Given the description of an element on the screen output the (x, y) to click on. 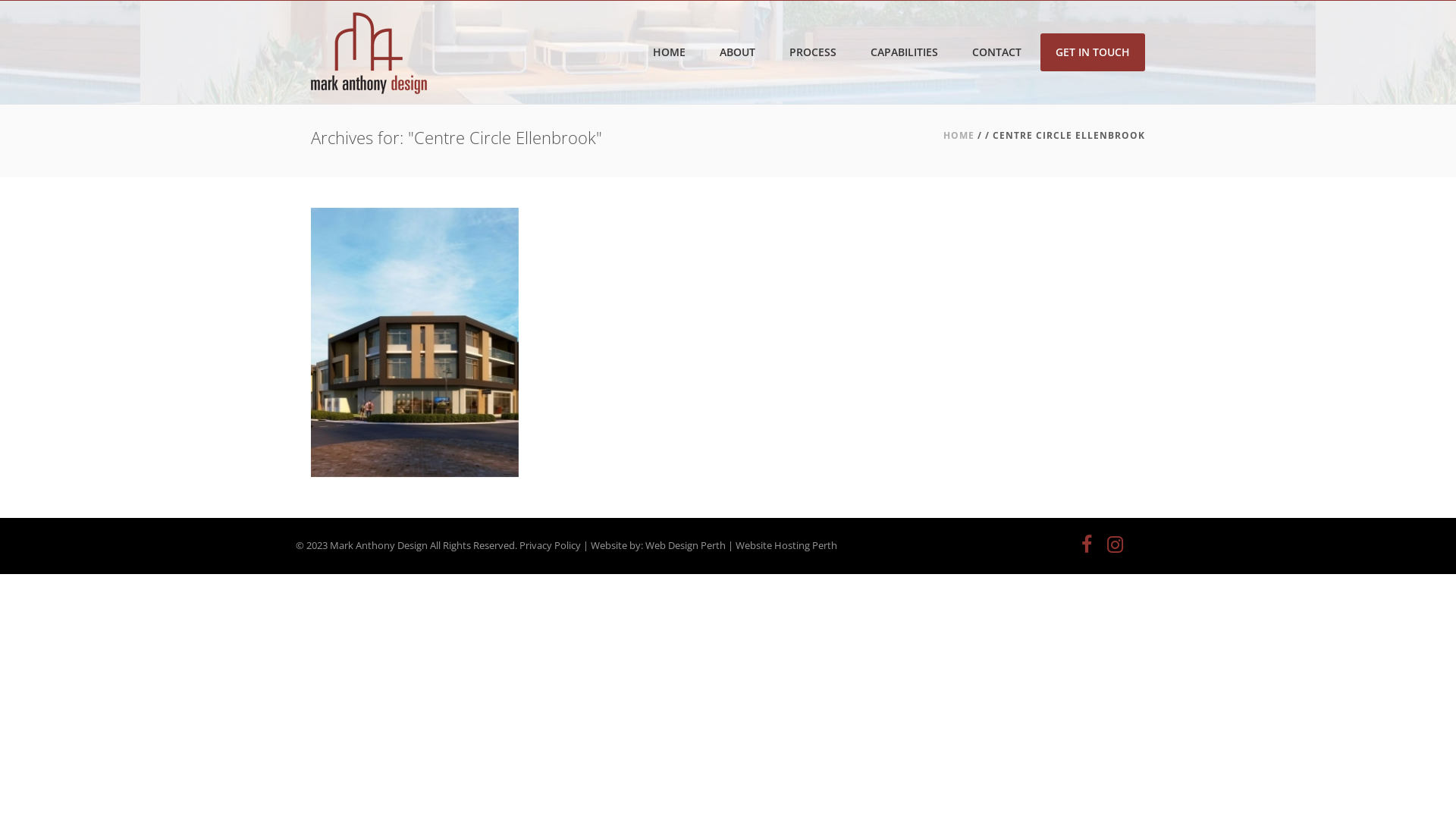
ABOUT Element type: text (737, 51)
CONTACT Element type: text (996, 51)
Mark Anthony Design Element type: hover (368, 51)
GET IN TOUCH Element type: text (1092, 52)
Website Hosting Perth Element type: text (786, 545)
HOME Element type: text (668, 51)
Web Design Perth Element type: text (685, 545)
PROCESS Element type: text (812, 51)
CAPABILITIES Element type: text (904, 51)
Centre Circle Ellenbrook Element type: hover (414, 341)
Privacy Policy Element type: text (549, 545)
CENTRE CIRCLE ELLENBROOK Element type: text (414, 367)
HOME Element type: text (958, 134)
